Given the description of an element on the screen output the (x, y) to click on. 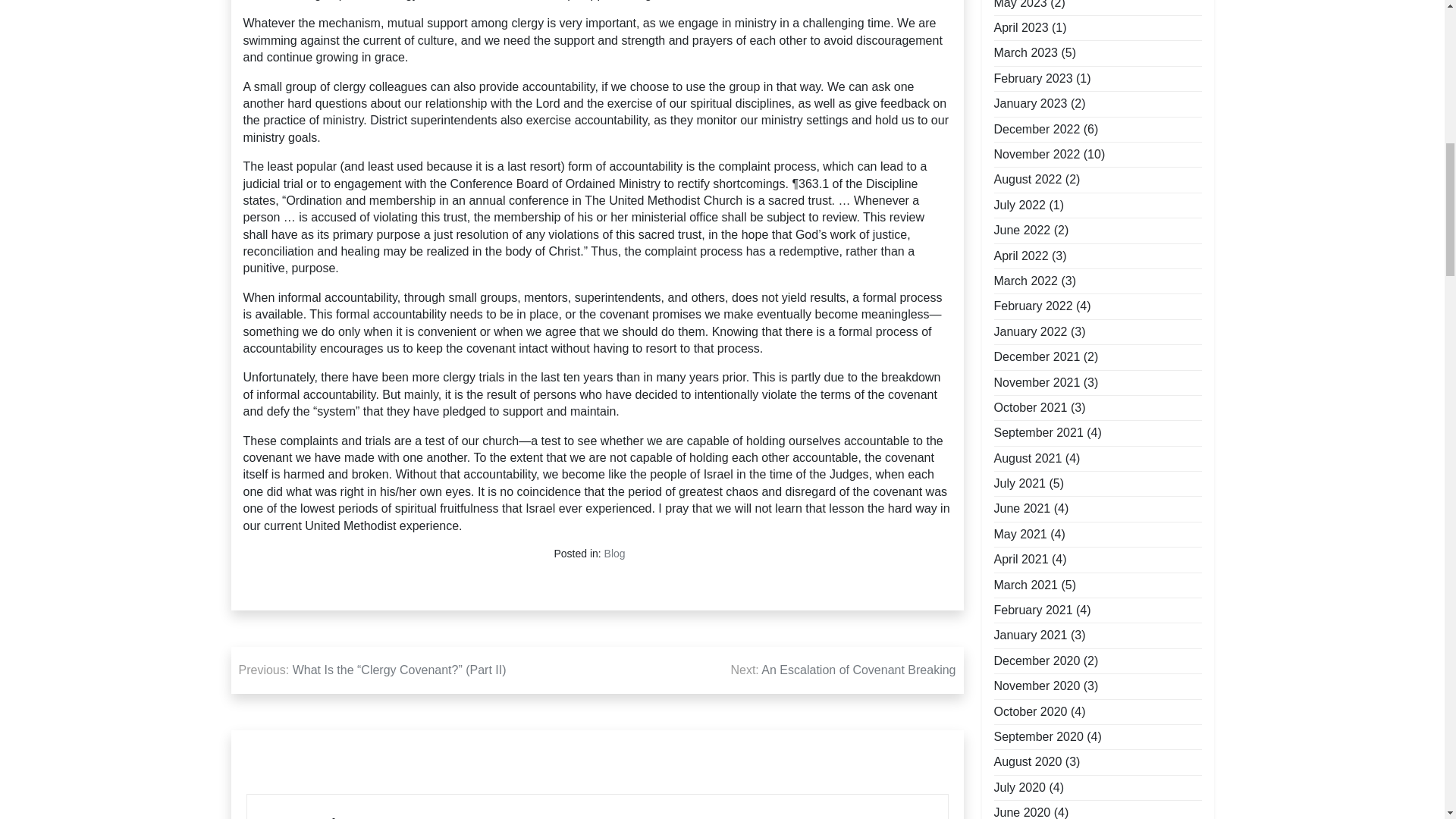
May 2023 (1019, 5)
December 2022 (1036, 129)
January 2023 (1029, 103)
Next: An Escalation of Covenant Breaking (842, 669)
July 2022 (1018, 205)
April 2023 (1020, 27)
February 2023 (1031, 78)
Blog (615, 554)
November 2022 (1036, 154)
March 2023 (1025, 53)
